Given the description of an element on the screen output the (x, y) to click on. 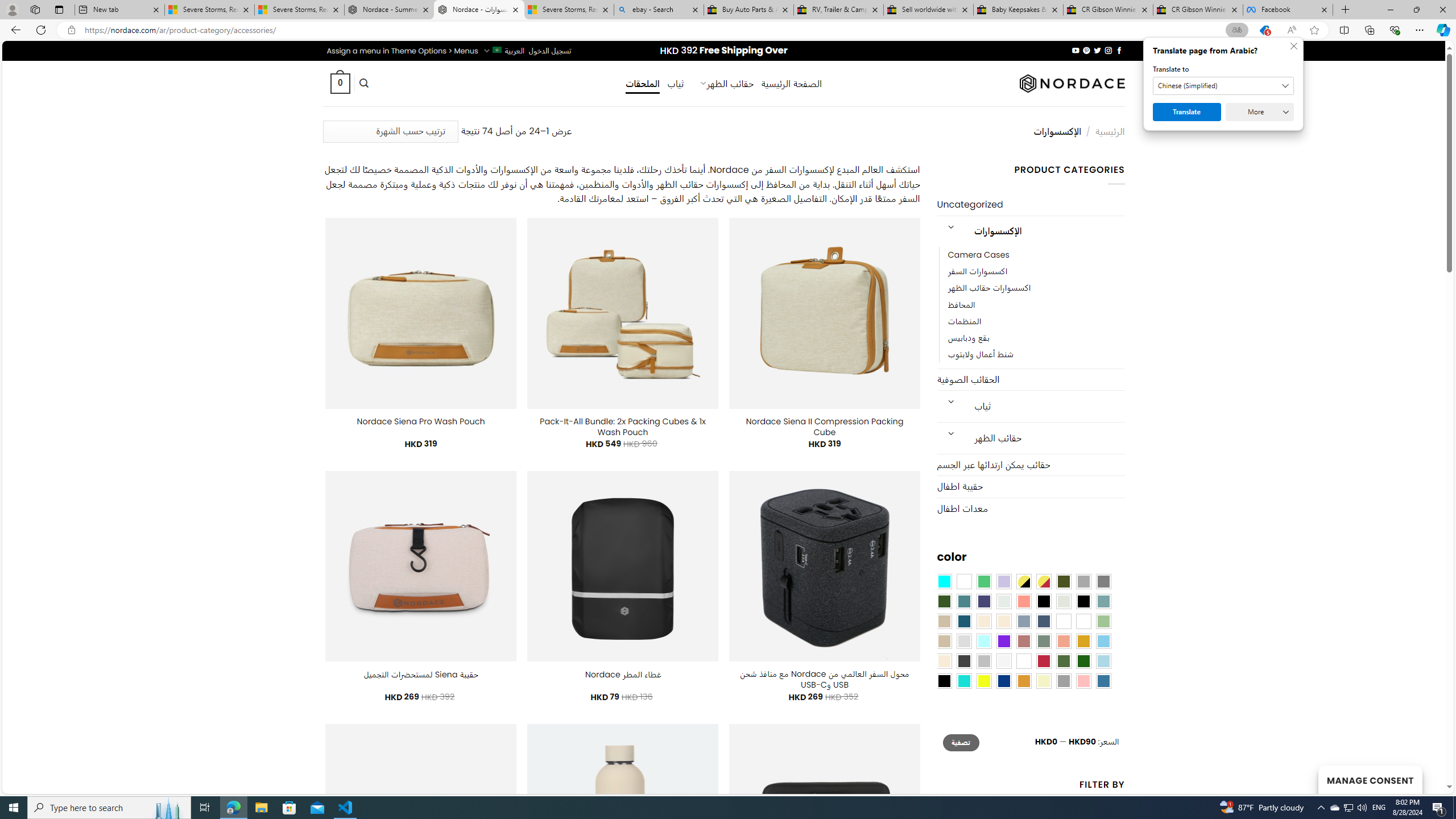
Cream (1003, 621)
Follow on Facebook (1118, 50)
Uncategorized (1030, 204)
Teal (963, 601)
